Given the description of an element on the screen output the (x, y) to click on. 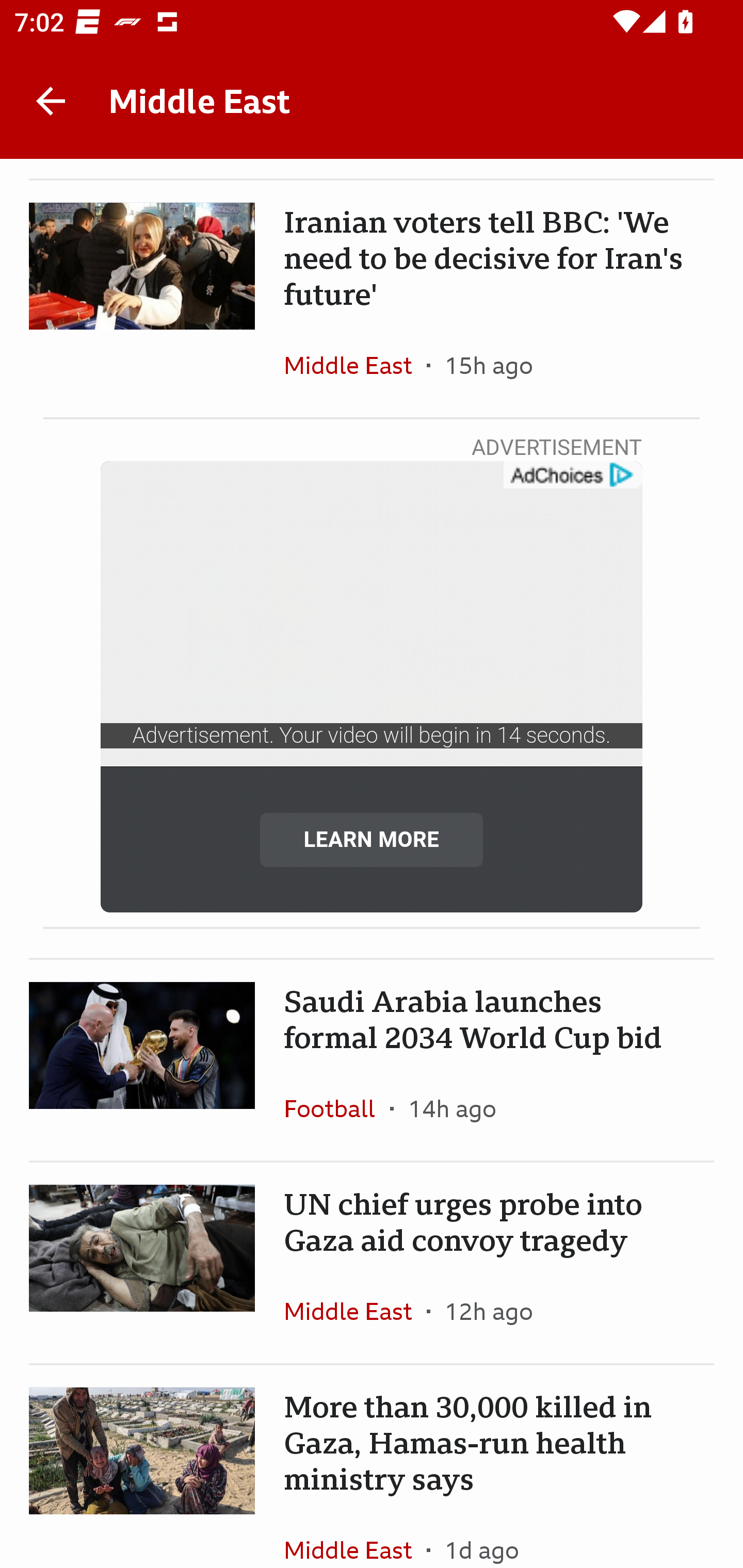
Back (50, 101)
Middle East In the section Middle East (354, 365)
get?name=admarker-full-tl (571, 474)
LEARN MORE (371, 838)
Football In the section Football (336, 1108)
Middle East In the section Middle East (354, 1310)
Middle East In the section Middle East (354, 1532)
